Given the description of an element on the screen output the (x, y) to click on. 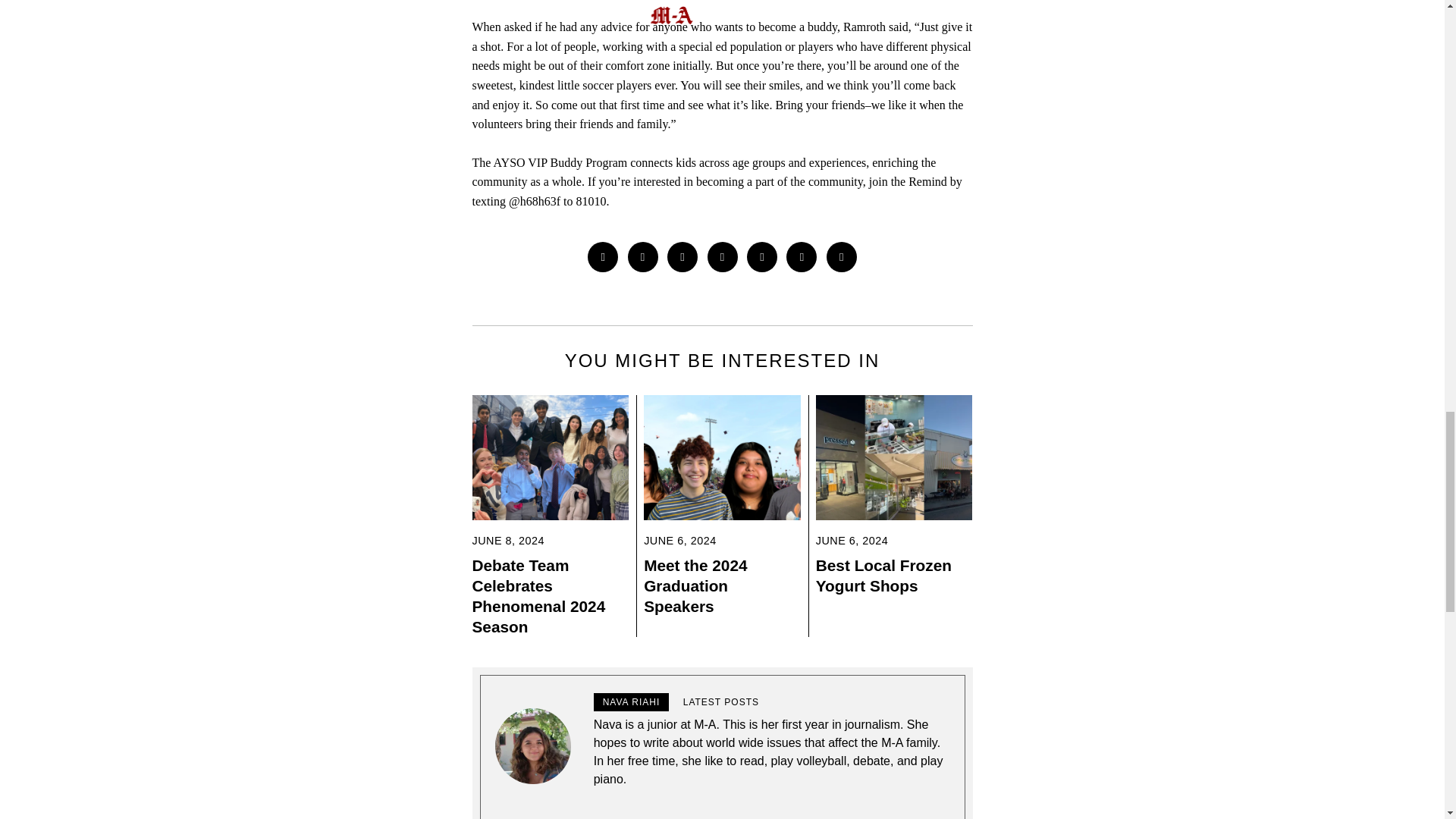
LATEST POSTS (721, 701)
Debate Team Celebrates Phenomenal 2024 Season (538, 595)
Meet the 2024 Graduation Speakers (694, 585)
Best Local Frozen Yogurt Shops (883, 575)
NAVA RIAHI (631, 701)
